Given the description of an element on the screen output the (x, y) to click on. 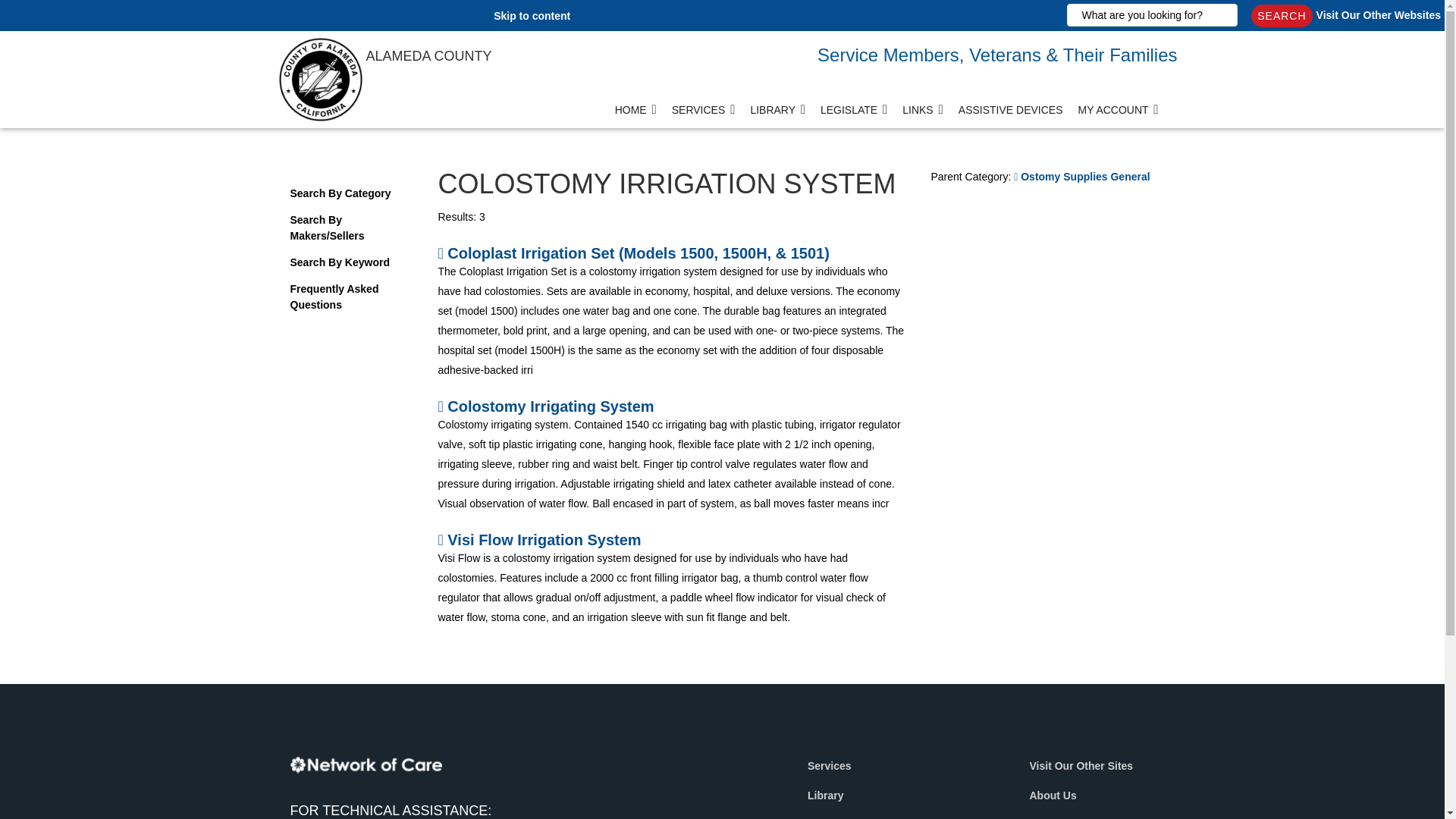
ALAMEDA COUNTY (322, 52)
LIBRARY (777, 115)
SEARCH (1280, 15)
SERVICES (702, 115)
HOME (635, 115)
LEGISLATE (853, 115)
Visit Our Other Websites (1378, 15)
Skip to content (531, 15)
